Given the description of an element on the screen output the (x, y) to click on. 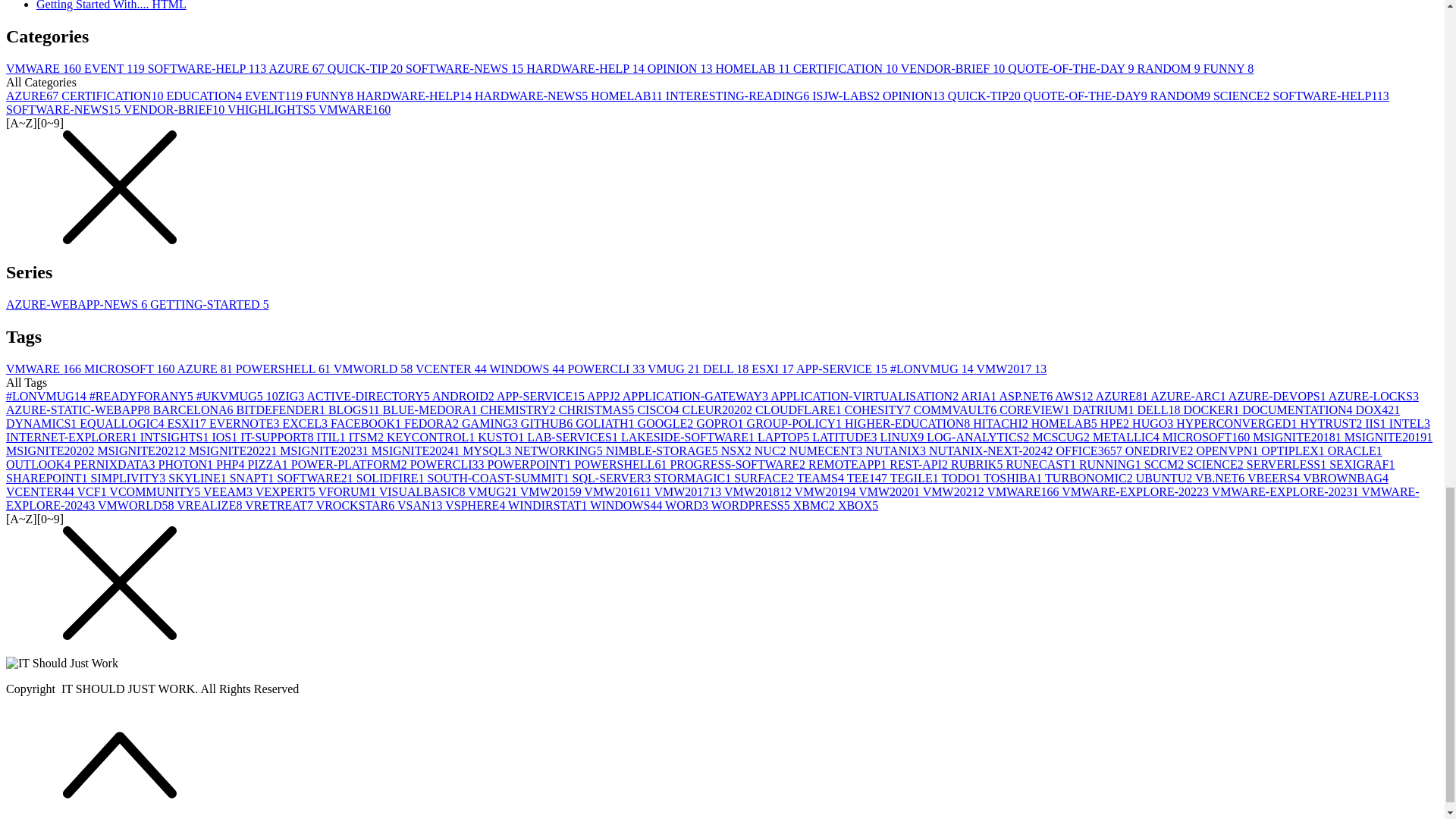
SOFTWARE-HELP 113 (208, 68)
EVENT 119 (116, 68)
Getting Started With.... HTML (111, 5)
VMWARE 160 (44, 68)
HARDWARE-HELP 14 (585, 68)
QUICK-TIP 20 (366, 68)
AZURE 67 (296, 68)
SOFTWARE-NEWS 15 (465, 68)
